Given the description of an element on the screen output the (x, y) to click on. 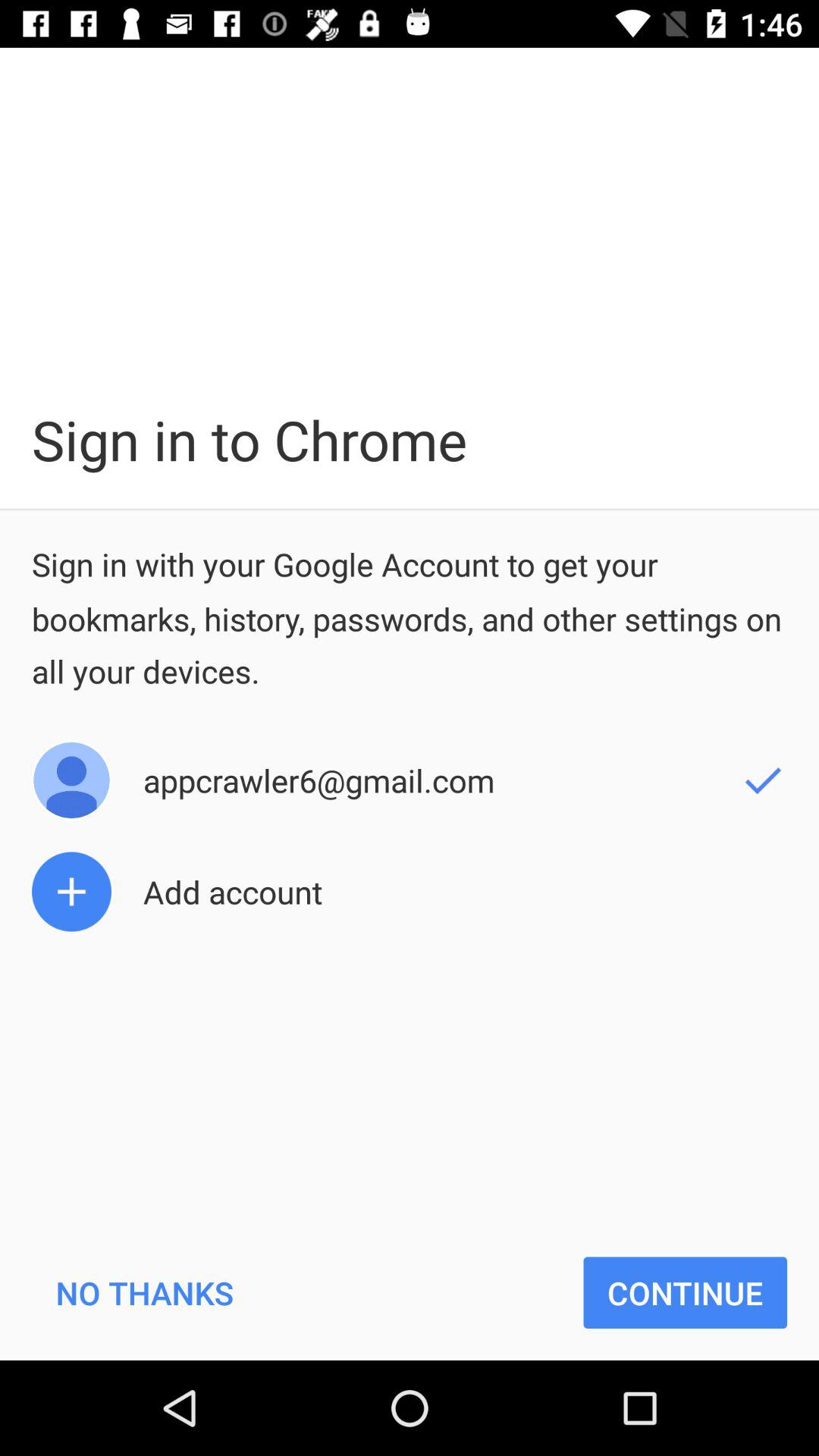
press the icon to the right of no thanks icon (685, 1292)
